Given the description of an element on the screen output the (x, y) to click on. 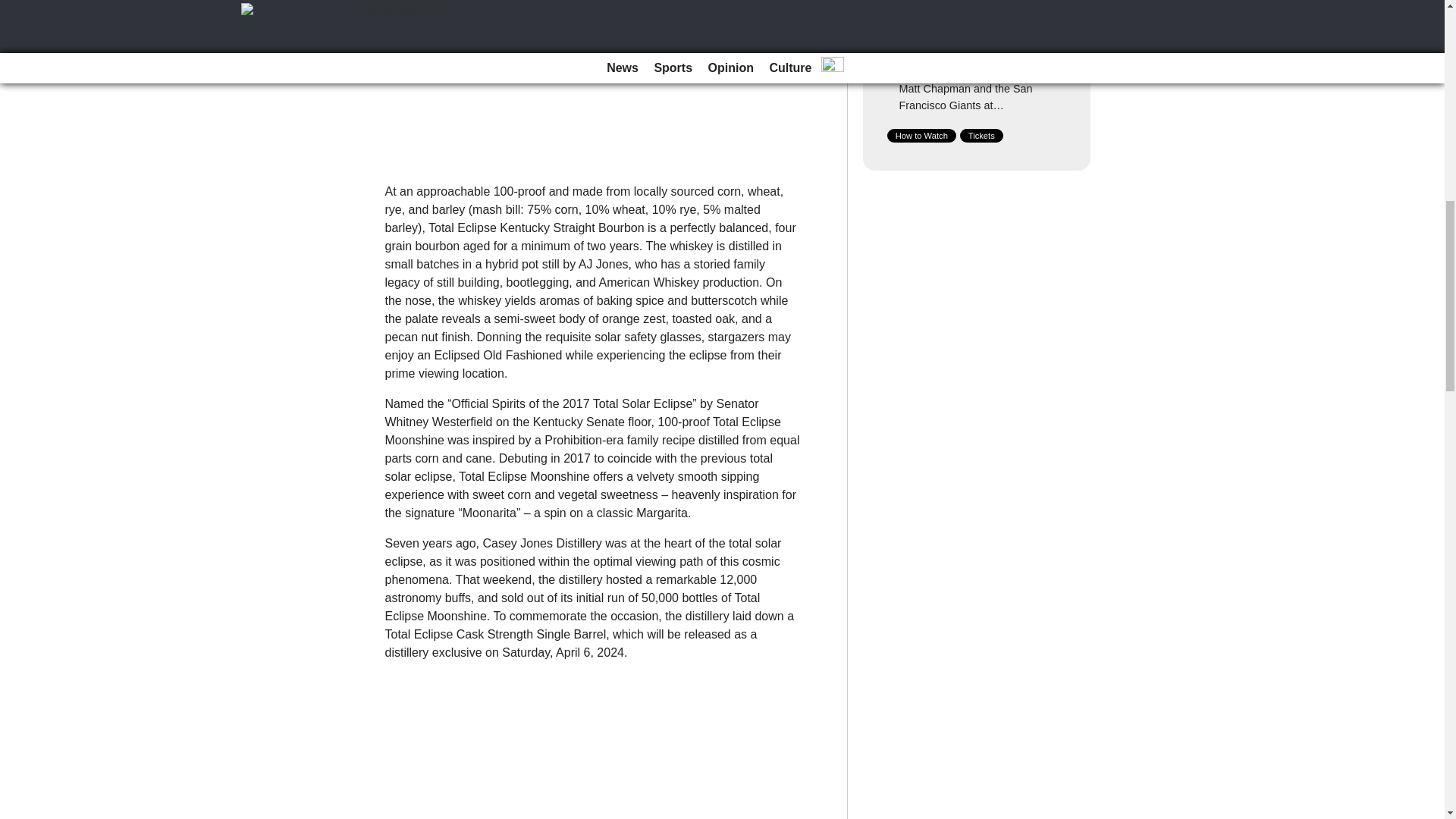
How to Watch (921, 135)
Tickets (981, 135)
